Given the description of an element on the screen output the (x, y) to click on. 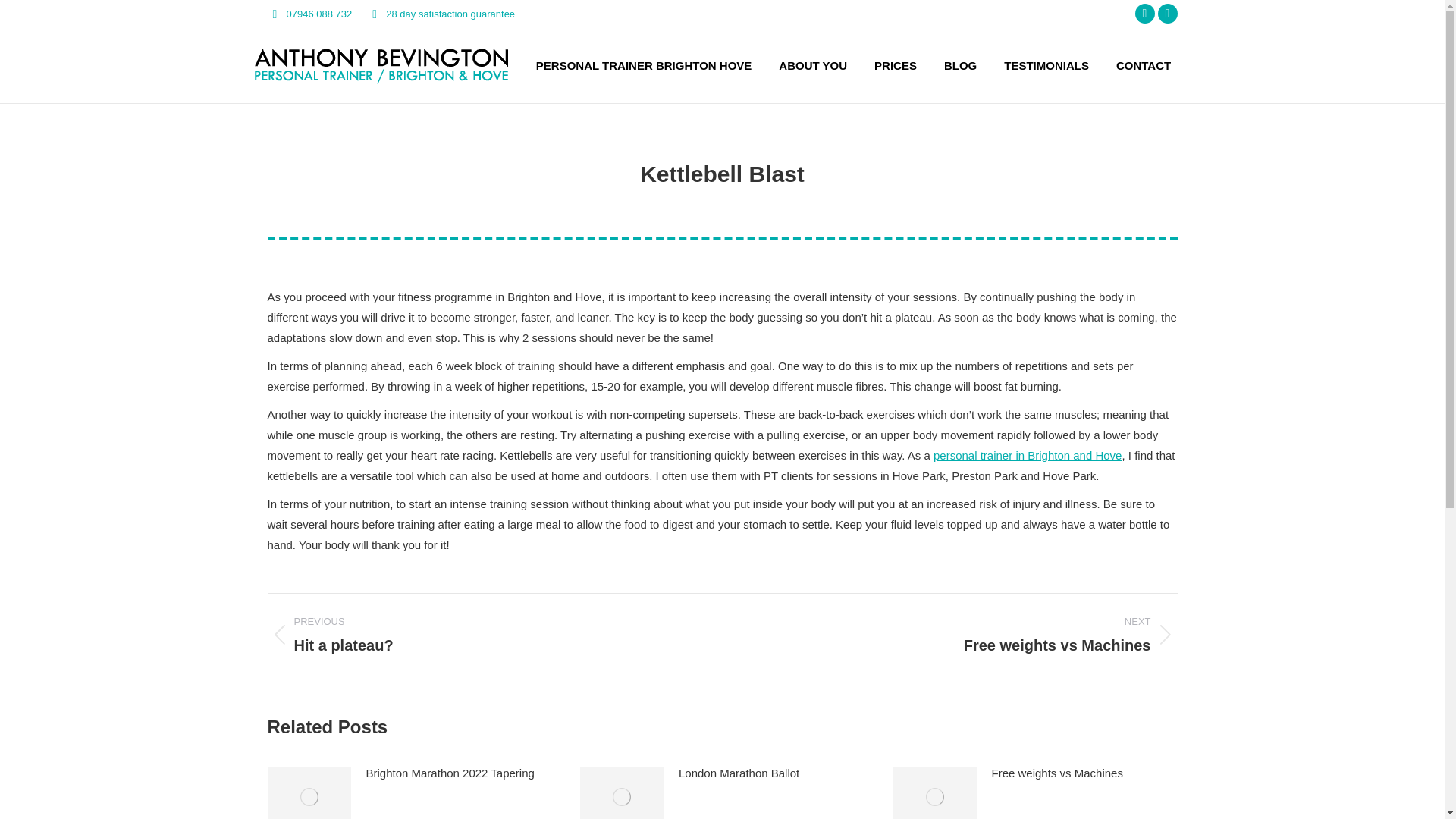
Brighton Marathon 2022 Tapering (449, 772)
YouTube page opens in new window (482, 634)
CONTACT (1167, 13)
X page opens in new window (1143, 64)
YouTube page opens in new window (1144, 13)
TESTIMONIALS (1167, 13)
ABOUT YOU (1046, 64)
personal trainer in Brighton and Hove (960, 634)
PERSONAL TRAINER BRIGHTON HOVE (813, 64)
X page opens in new window (1027, 454)
Free weights vs Machines (643, 64)
London Marathon Ballot (1144, 13)
PRICES (1056, 772)
